Given the description of an element on the screen output the (x, y) to click on. 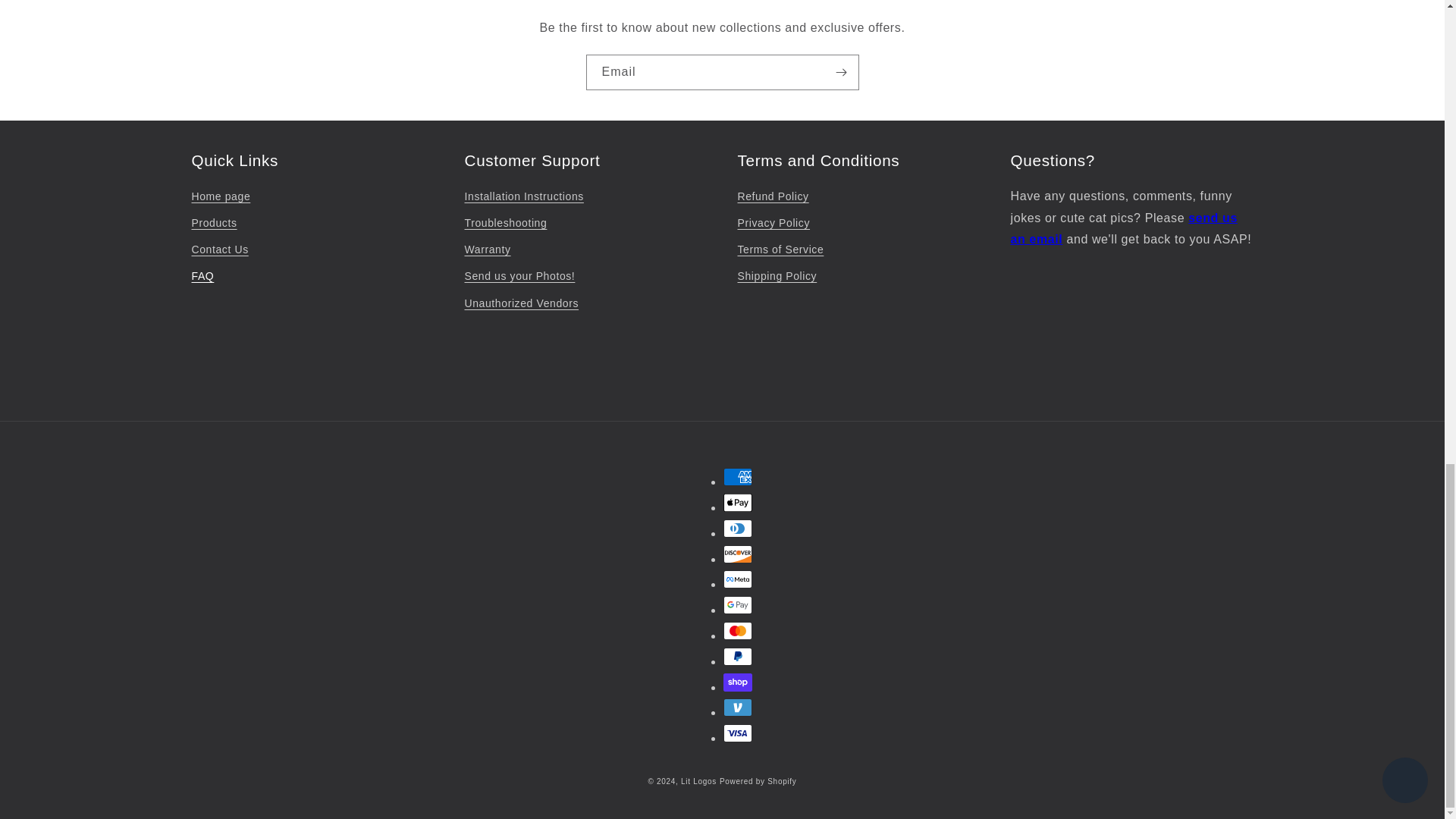
Contact Us! (1123, 228)
Warranty (487, 249)
Products (212, 222)
Home page (220, 198)
Contact Us (218, 249)
Installation Instructions (523, 198)
Troubleshooting (505, 222)
